Given the description of an element on the screen output the (x, y) to click on. 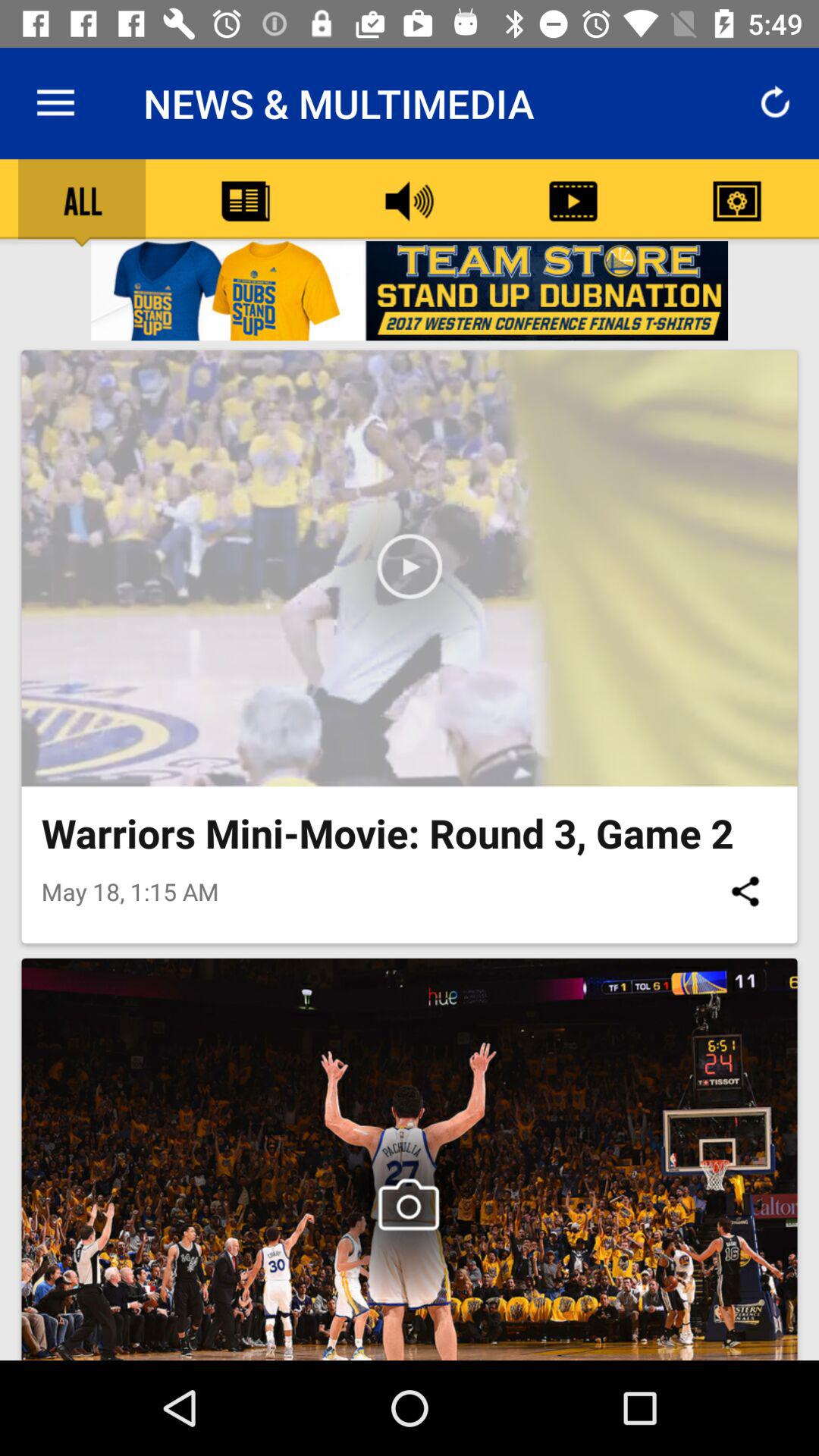
turn on item next to the news & multimedia icon (55, 103)
